Given the description of an element on the screen output the (x, y) to click on. 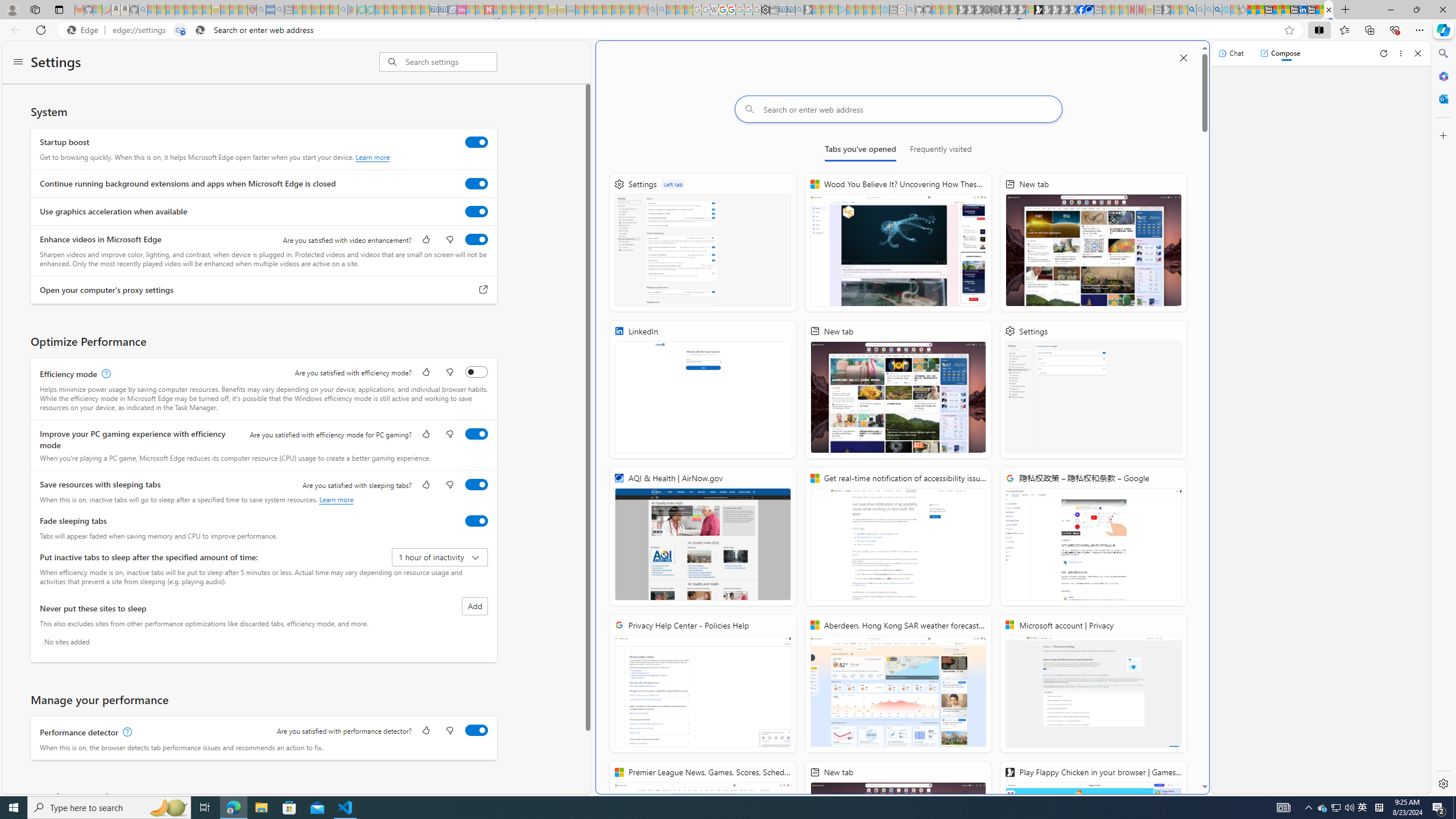
Search or enter web address (897, 108)
Save resources with sleeping tabs (476, 484)
Performance detector (476, 730)
utah sues federal government - Search - Sleeping (279, 9)
MSN - Sleeping (1165, 9)
Tabs in split screen (180, 29)
